Given the description of an element on the screen output the (x, y) to click on. 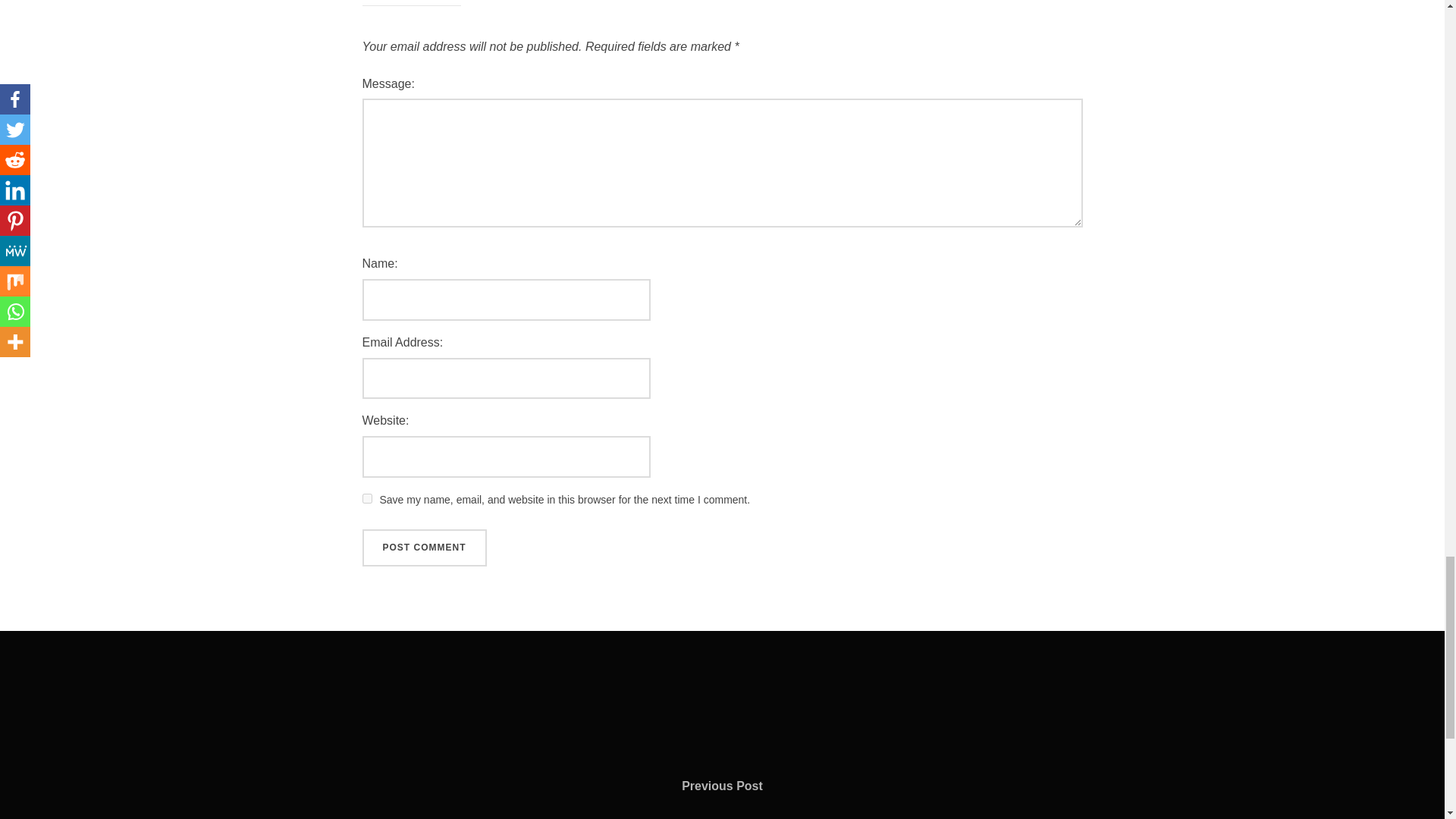
yes (367, 498)
Post Comment (424, 548)
